Given the description of an element on the screen output the (x, y) to click on. 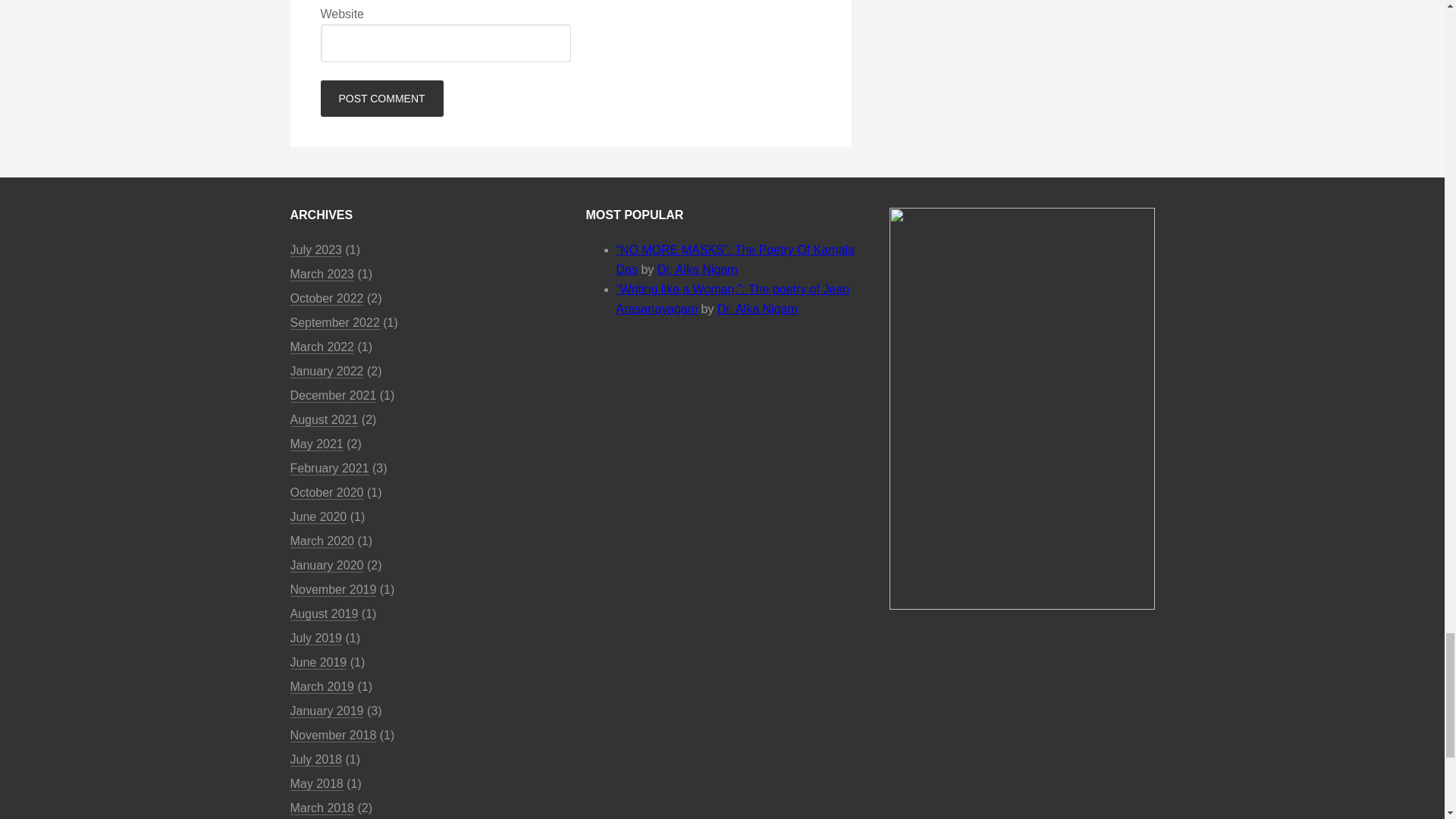
Post Comment (381, 98)
